Given the description of an element on the screen output the (x, y) to click on. 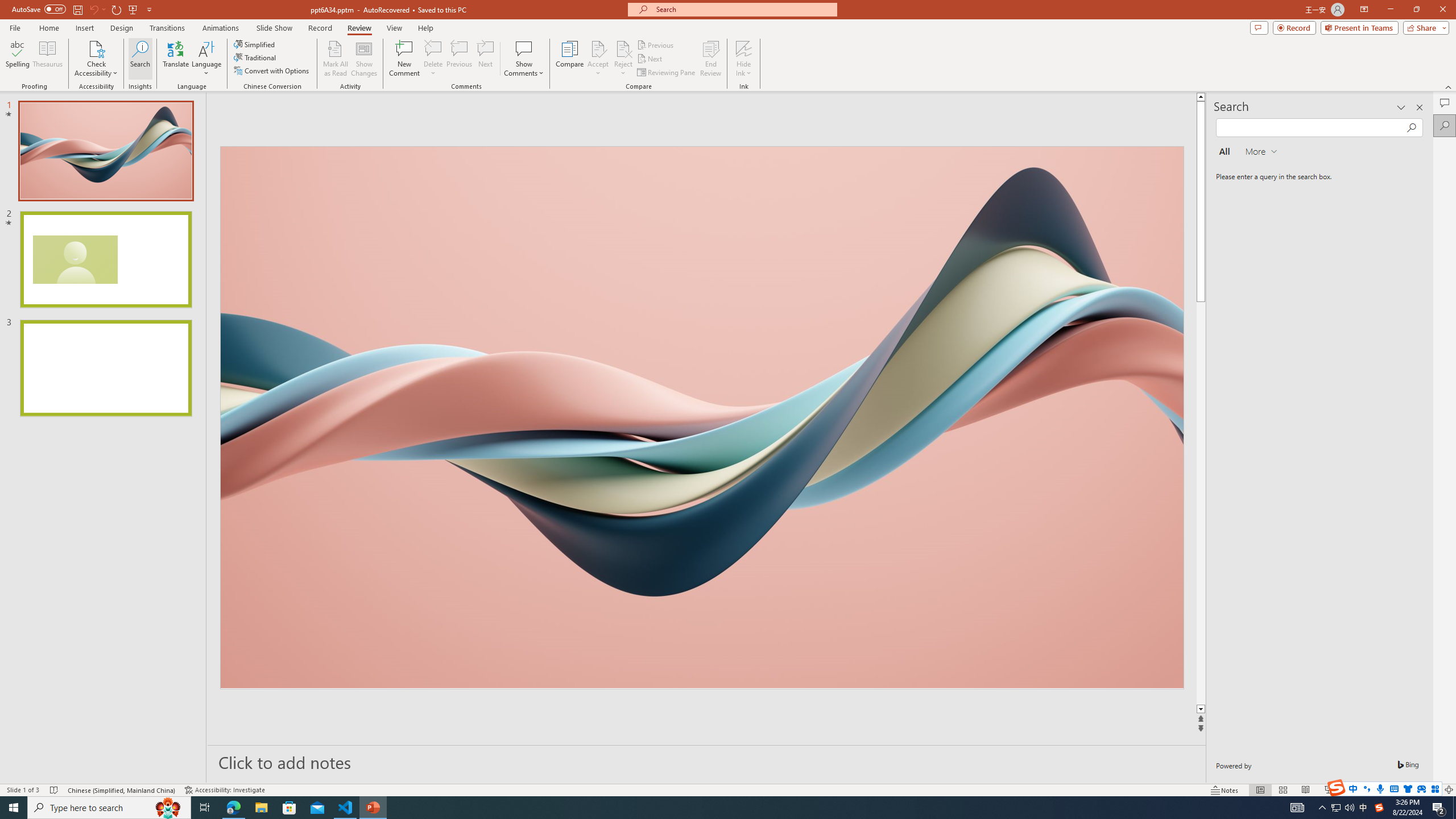
Next (649, 58)
Convert with Options... (272, 69)
Hide Ink (743, 58)
Spelling... (17, 58)
New Comment (403, 58)
